Given the description of an element on the screen output the (x, y) to click on. 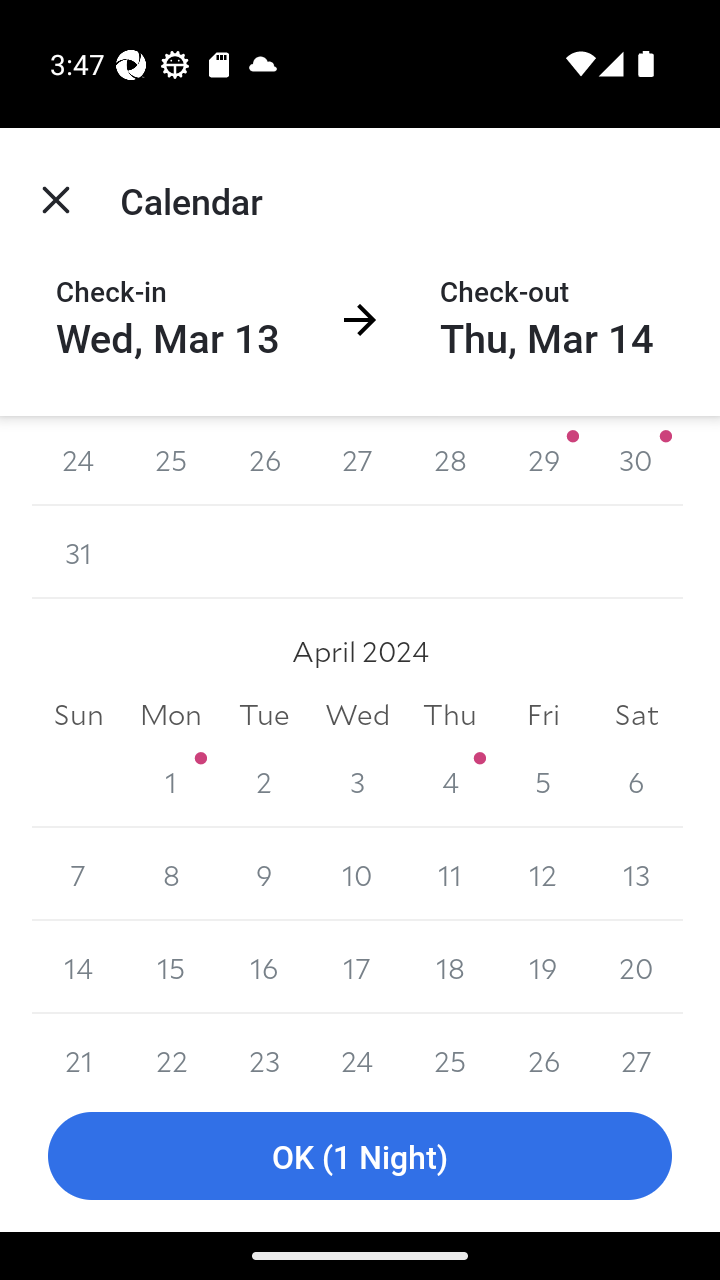
24 24 March 2024 (78, 460)
25 25 March 2024 (171, 460)
26 26 March 2024 (264, 460)
27 27 March 2024 (357, 460)
28 28 March 2024 (449, 460)
29 29 March 2024 (542, 460)
30 30 March 2024 (636, 460)
31 31 March 2024 (78, 552)
Sun (78, 713)
Mon (171, 713)
Tue (264, 713)
Wed (357, 713)
Thu (449, 713)
Fri (542, 713)
Sat (636, 713)
1 1 April 2024 (171, 781)
2 2 April 2024 (264, 781)
3 3 April 2024 (357, 781)
4 4 April 2024 (449, 781)
5 5 April 2024 (542, 781)
6 6 April 2024 (636, 781)
7 7 April 2024 (78, 874)
8 8 April 2024 (171, 874)
9 9 April 2024 (264, 874)
10 10 April 2024 (357, 874)
11 11 April 2024 (449, 874)
12 12 April 2024 (542, 874)
13 13 April 2024 (636, 874)
14 14 April 2024 (78, 967)
15 15 April 2024 (171, 967)
16 16 April 2024 (264, 967)
17 17 April 2024 (357, 967)
18 18 April 2024 (449, 967)
19 19 April 2024 (542, 967)
20 20 April 2024 (636, 967)
21 21 April 2024 (78, 1046)
22 22 April 2024 (171, 1046)
23 23 April 2024 (264, 1046)
24 24 April 2024 (357, 1046)
25 25 April 2024 (449, 1046)
26 26 April 2024 (542, 1046)
27 27 April 2024 (636, 1046)
OK (1 Night) (359, 1156)
